Given the description of an element on the screen output the (x, y) to click on. 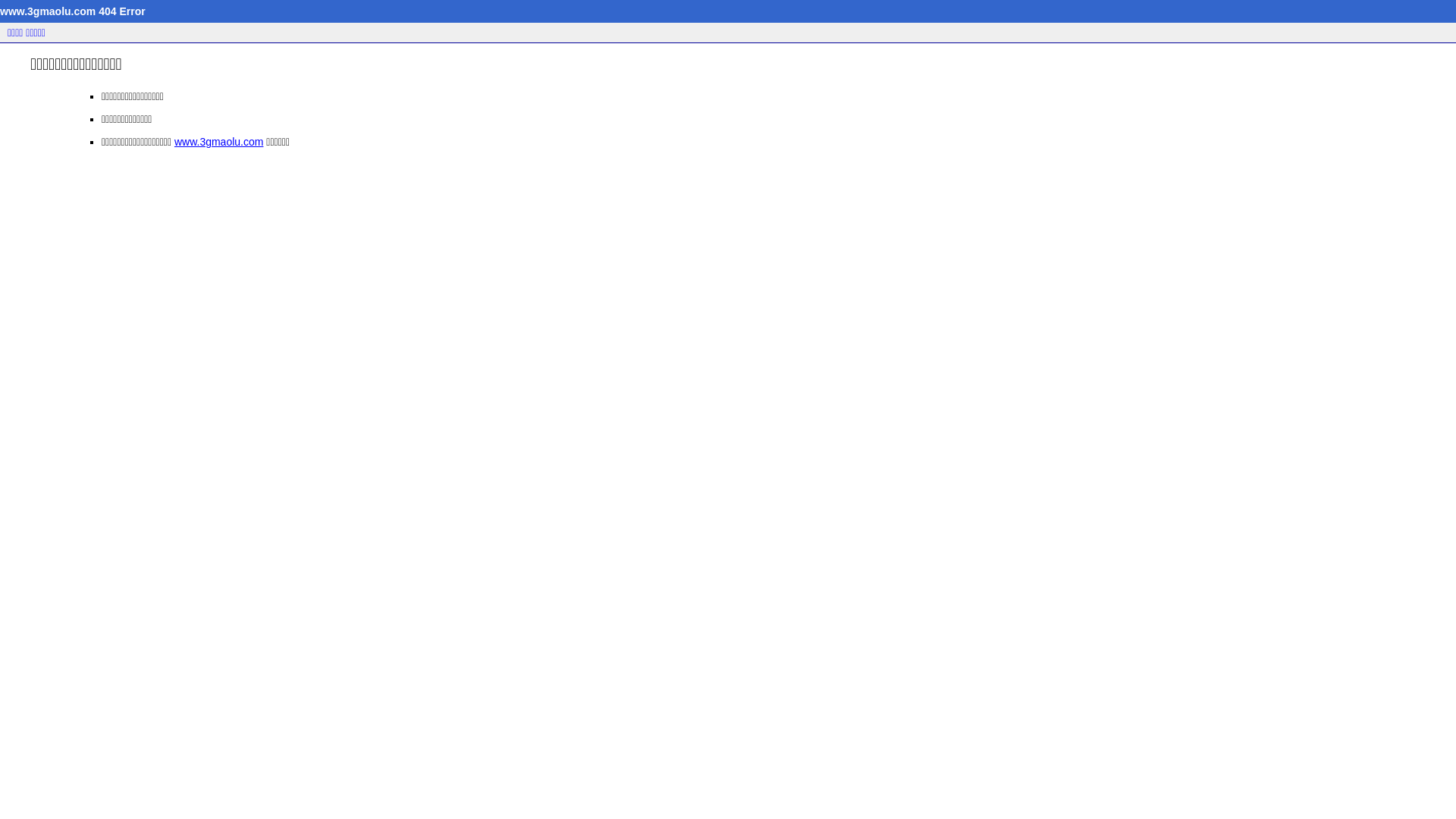
www.3gmaolu.com Element type: text (218, 141)
